Given the description of an element on the screen output the (x, y) to click on. 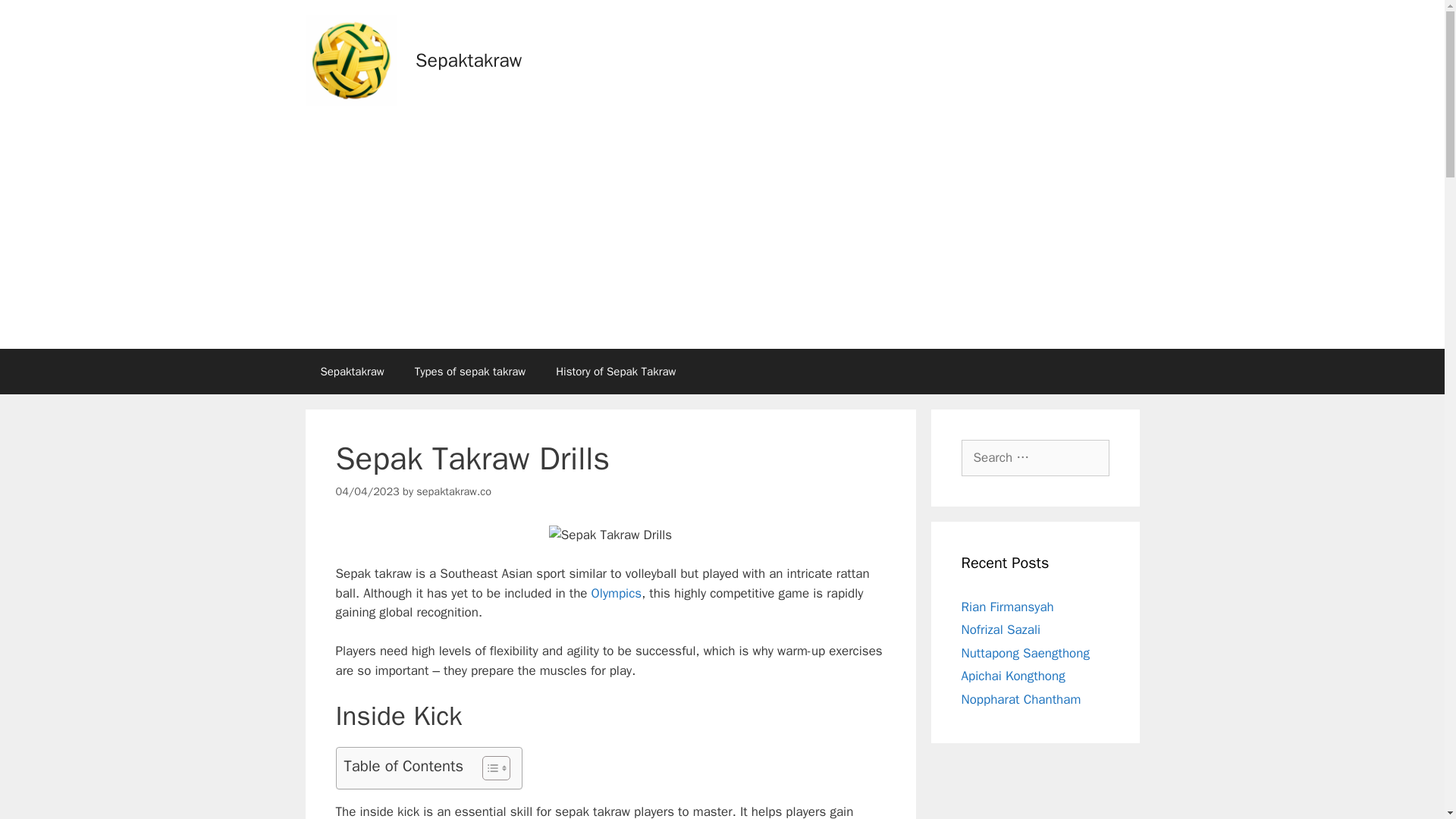
Apichai Kongthong (1012, 675)
History of Sepak Takraw (615, 370)
View all posts by sepaktakraw.co (454, 490)
Noppharat Chantham (1020, 699)
Olympics (616, 593)
Sepak Takraw Drills (609, 535)
Search (35, 18)
Search for: (1034, 457)
Types of sepak takraw (469, 370)
Nuttapong Saengthong (1024, 652)
Sepaktakraw (467, 60)
sepaktakraw.co (454, 490)
Rian Firmansyah (1007, 606)
Sepaktakraw (351, 370)
